Given the description of an element on the screen output the (x, y) to click on. 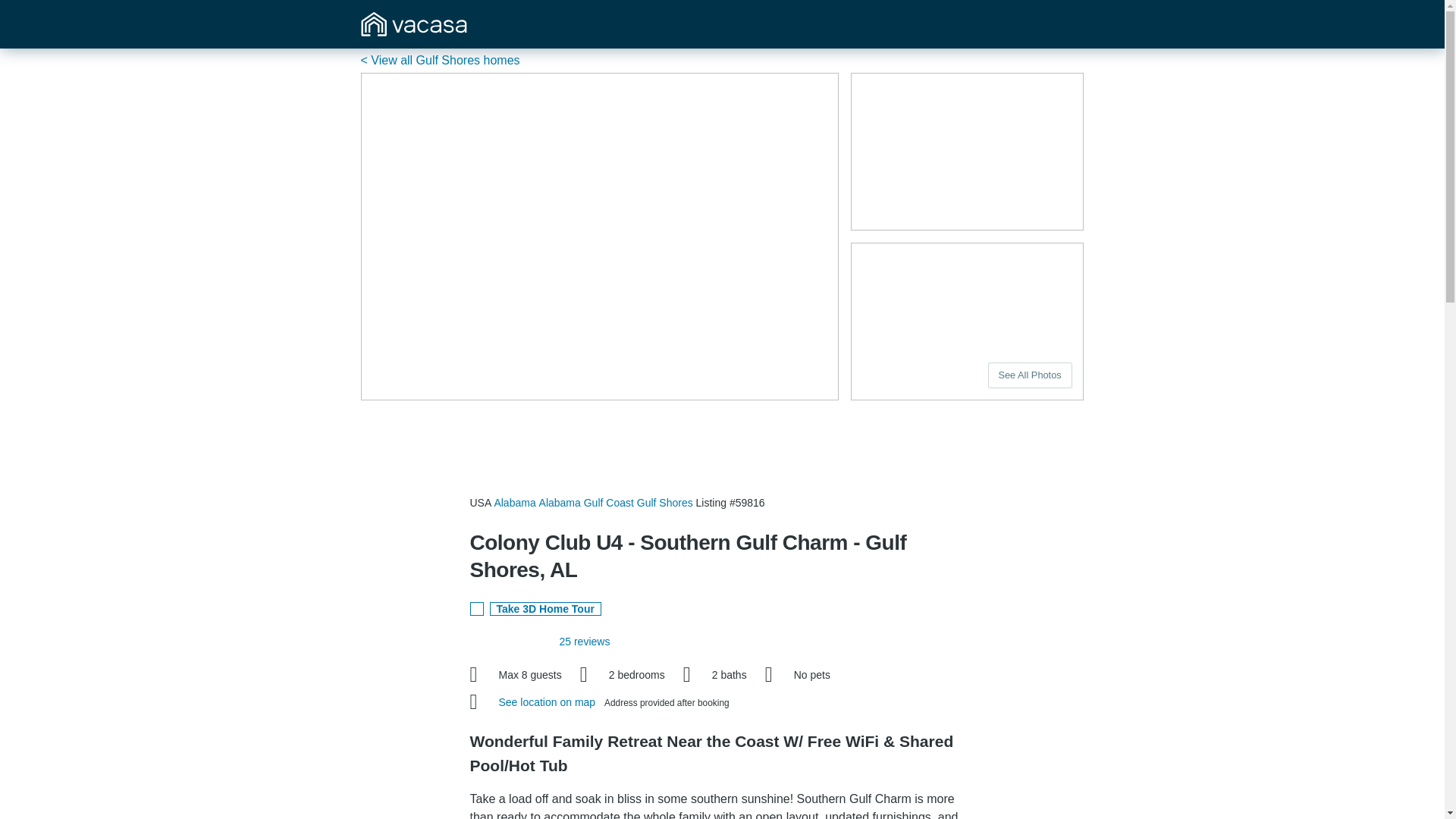
See All Photos (1029, 375)
Alabama (514, 502)
See location on map (548, 702)
25 reviews (584, 641)
Alabama Gulf Coast (585, 502)
Take 3D Home Tour (545, 608)
Gulf Shores (665, 502)
